Given the description of an element on the screen output the (x, y) to click on. 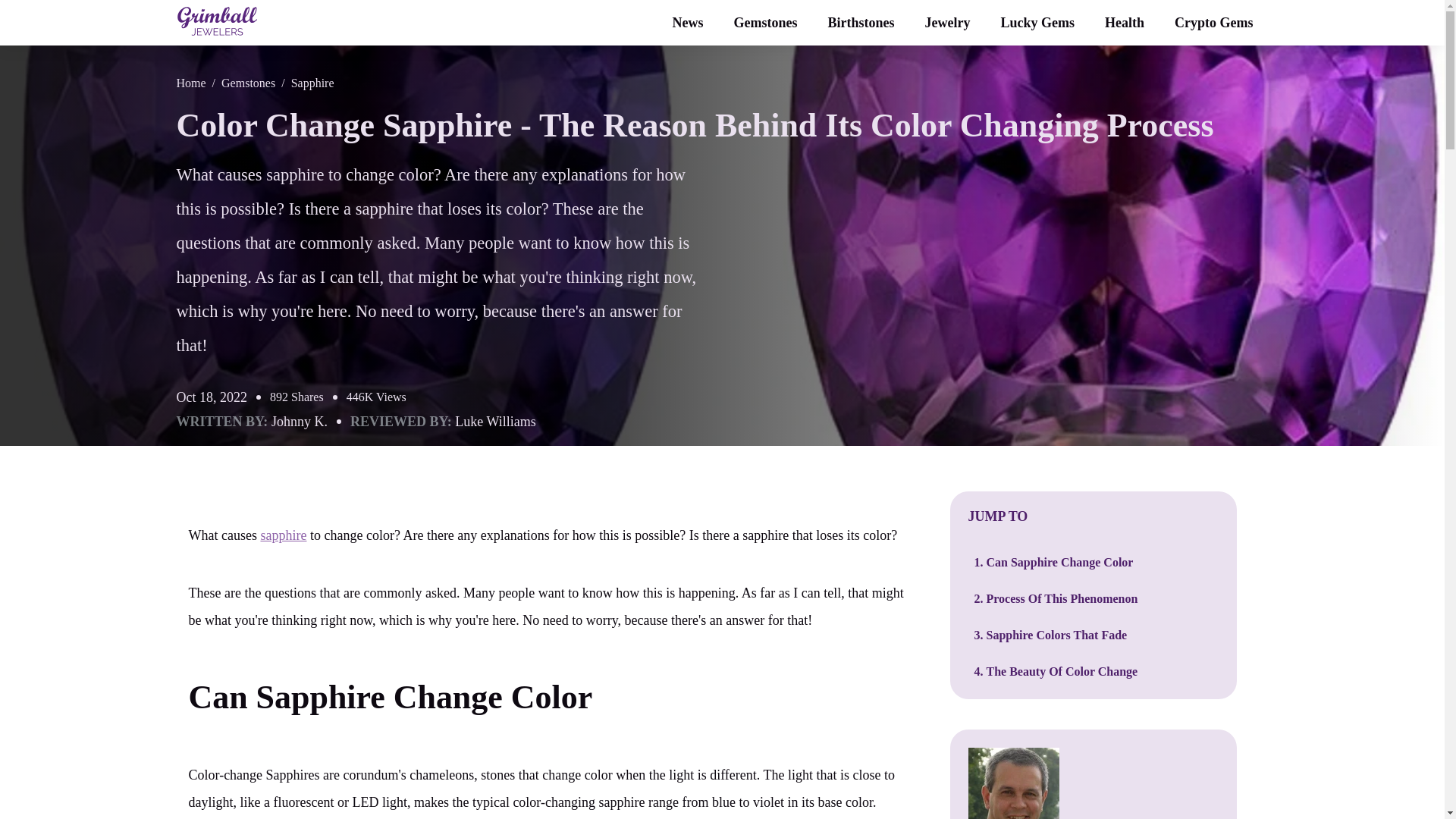
Last updated on Oct 18, 2022 (211, 396)
Can Sapphire Change Color (389, 696)
